Given the description of an element on the screen output the (x, y) to click on. 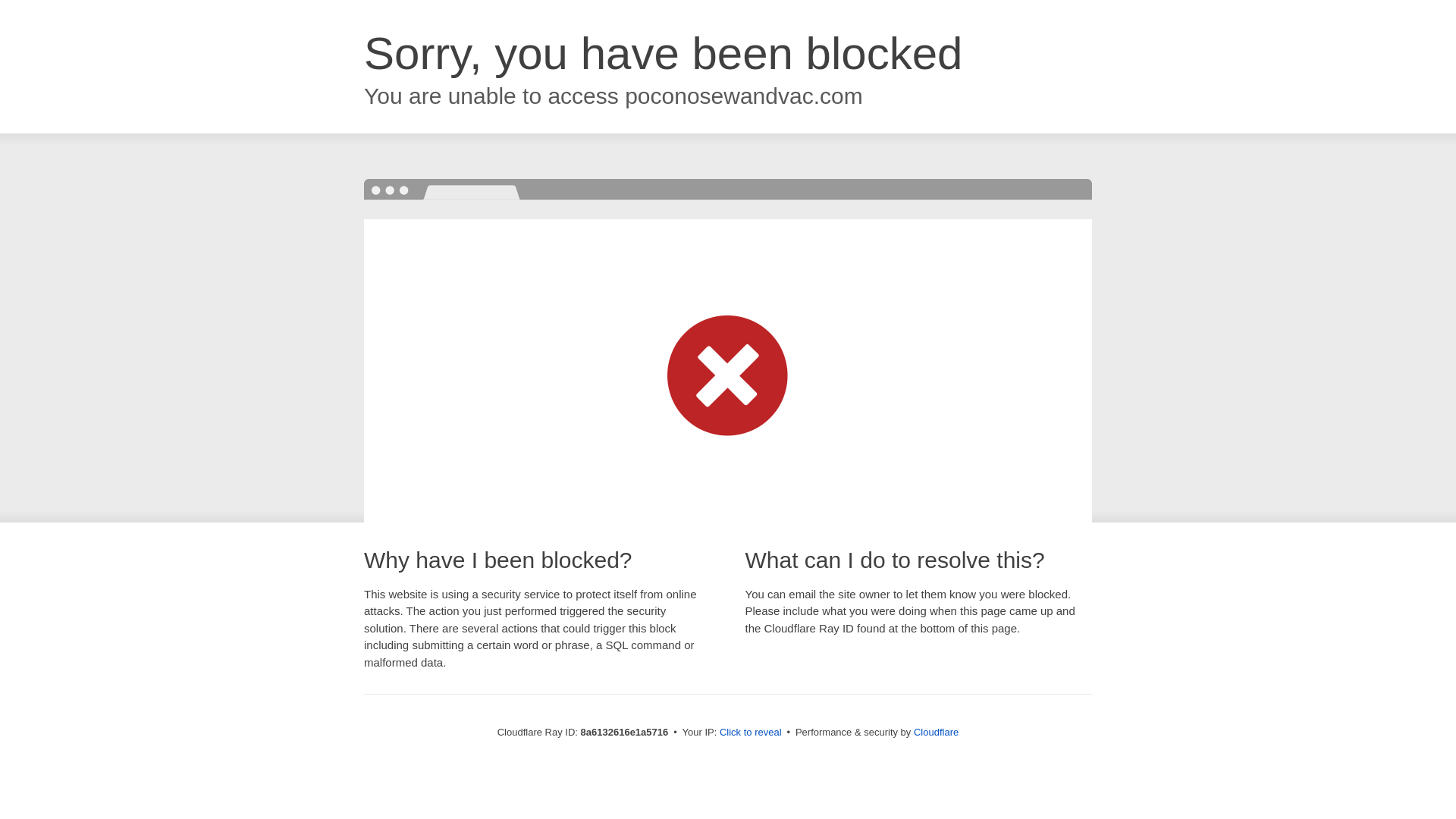
Click to reveal (750, 732)
Cloudflare (936, 731)
